Given the description of an element on the screen output the (x, y) to click on. 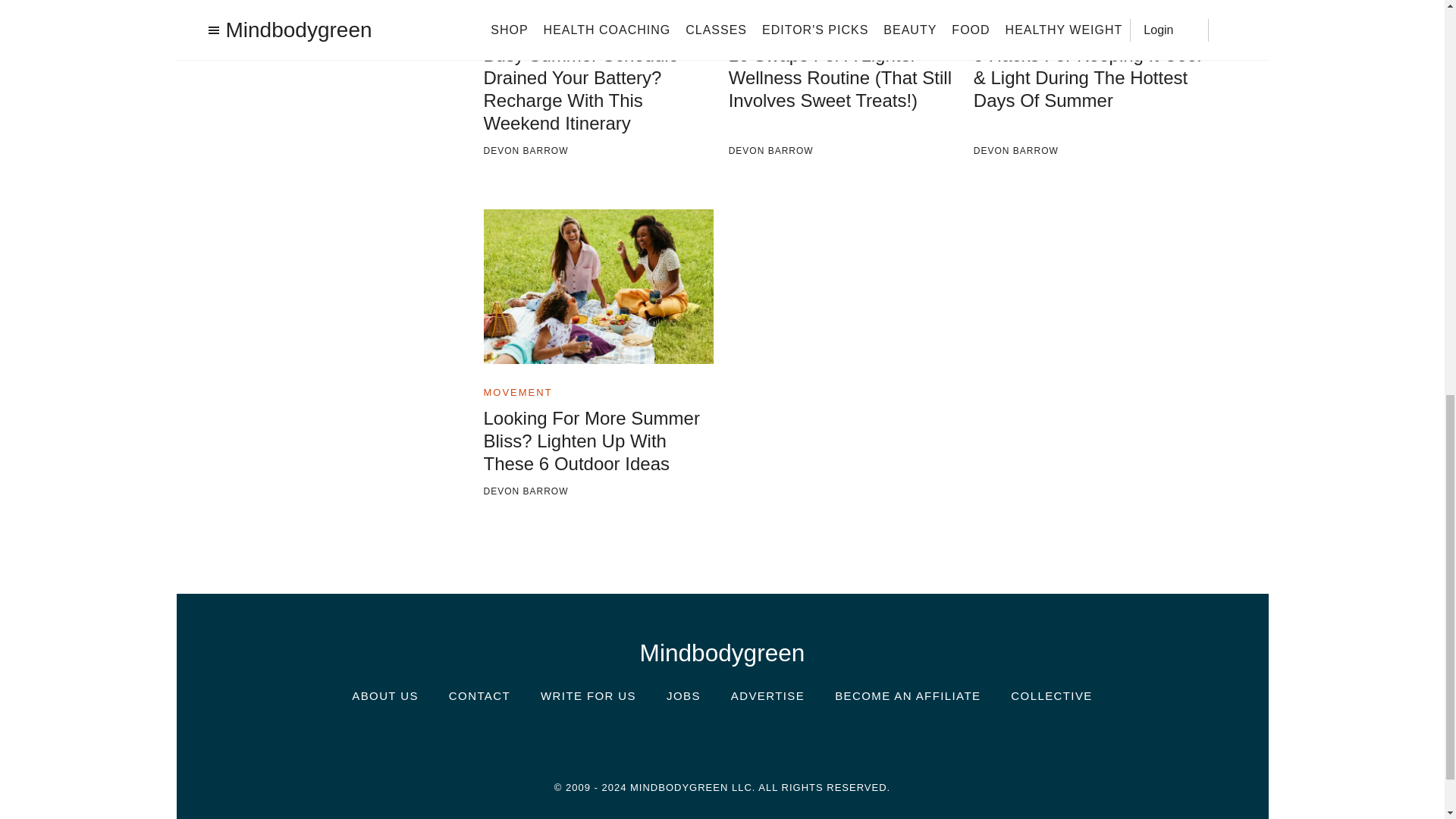
Pinterest (767, 739)
DEVON BARROW (598, 491)
Facebook (676, 739)
YouTube (812, 740)
JOBS (683, 695)
DEVON BARROW (844, 151)
MOVEMENT (1008, 29)
MOVEMENT (518, 29)
DEVON BARROW (1089, 151)
